Given the description of an element on the screen output the (x, y) to click on. 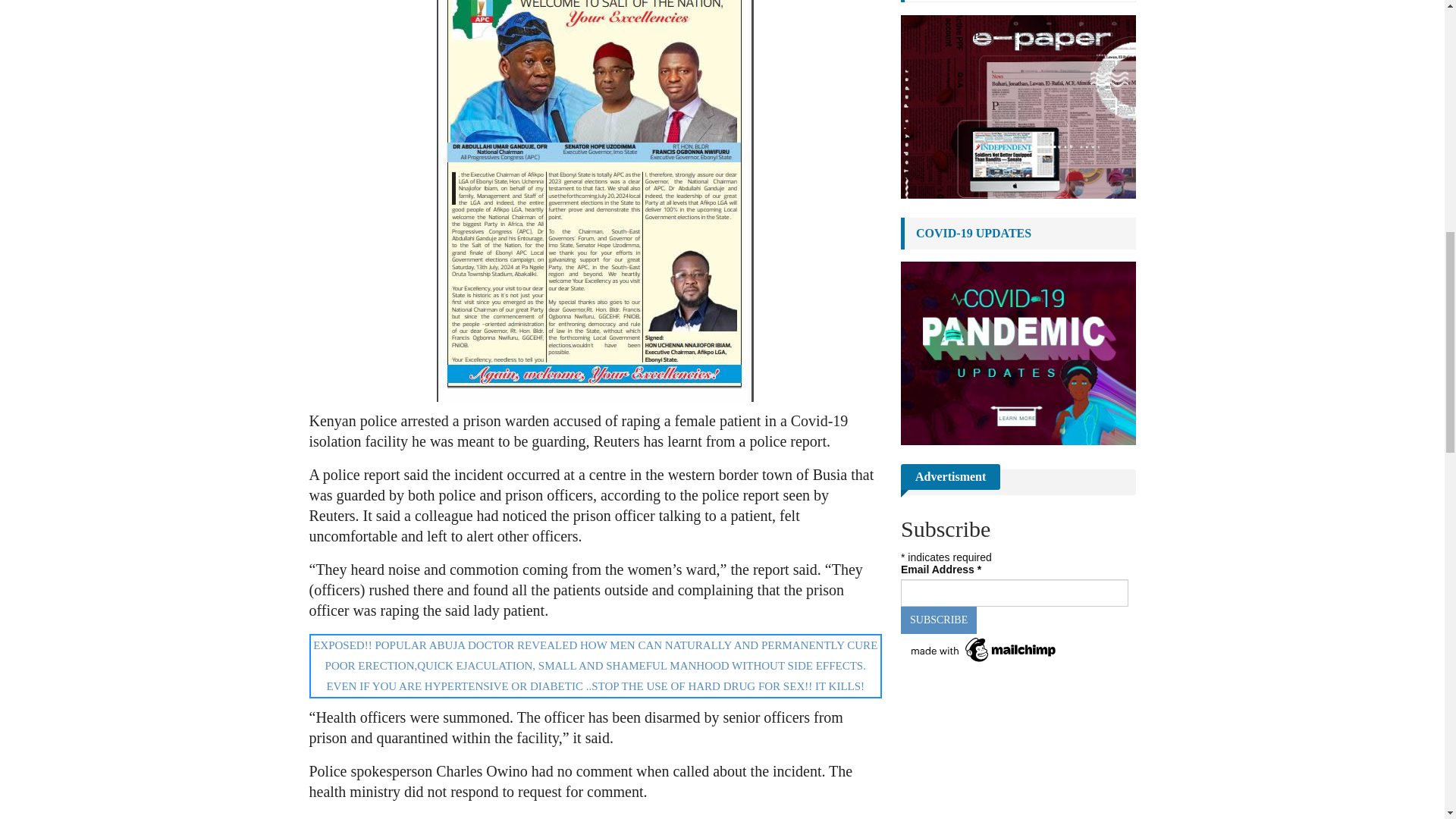
Subscribe (938, 619)
